Given the description of an element on the screen output the (x, y) to click on. 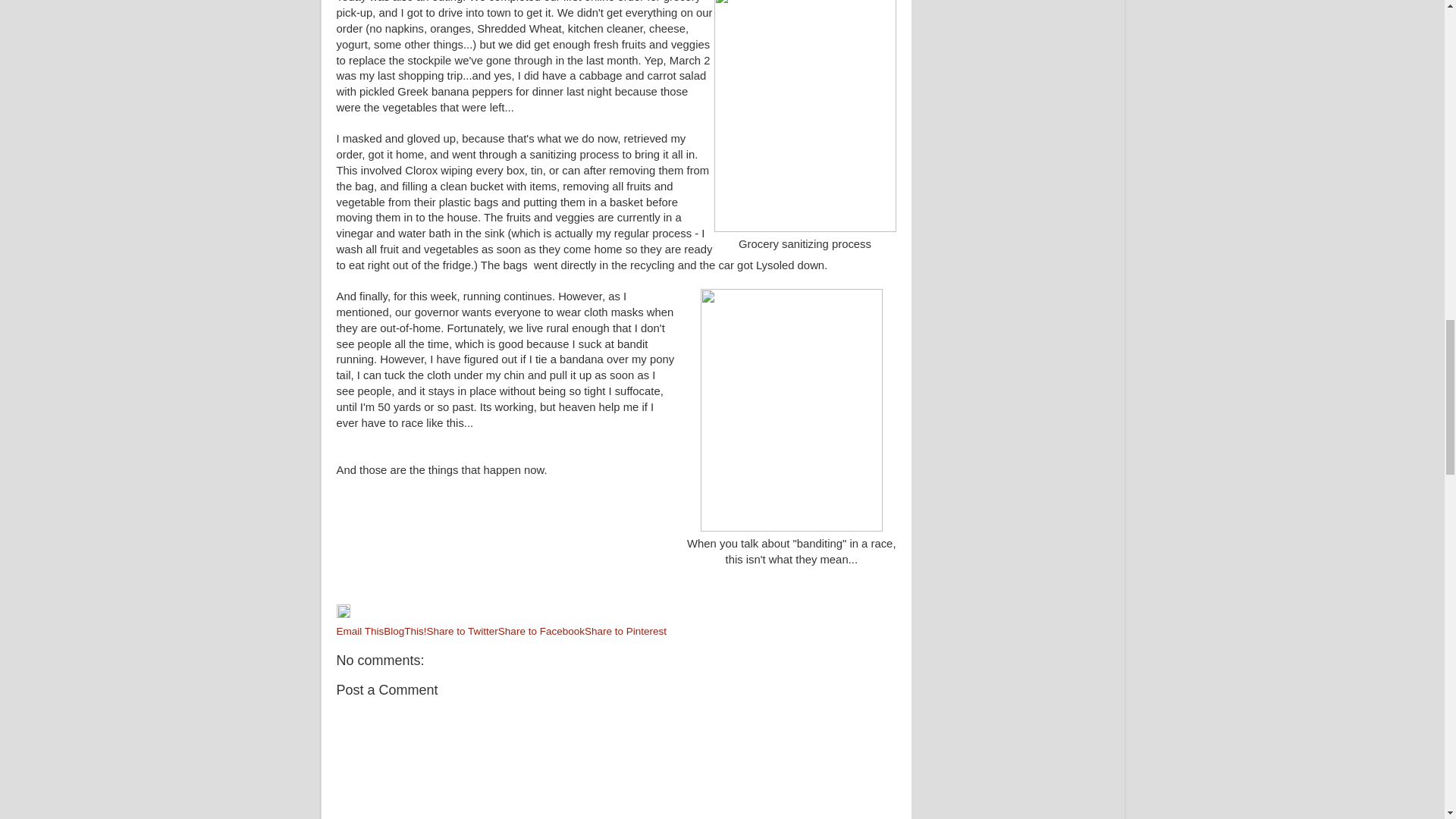
Share to Twitter (461, 631)
BlogThis! (405, 631)
Email This (360, 631)
Share to Facebook (541, 631)
Share to Facebook (541, 631)
Edit Post (343, 614)
Email This (360, 631)
Share to Pinterest (625, 631)
Share to Twitter (461, 631)
BlogThis! (405, 631)
Share to Pinterest (625, 631)
